Given the description of an element on the screen output the (x, y) to click on. 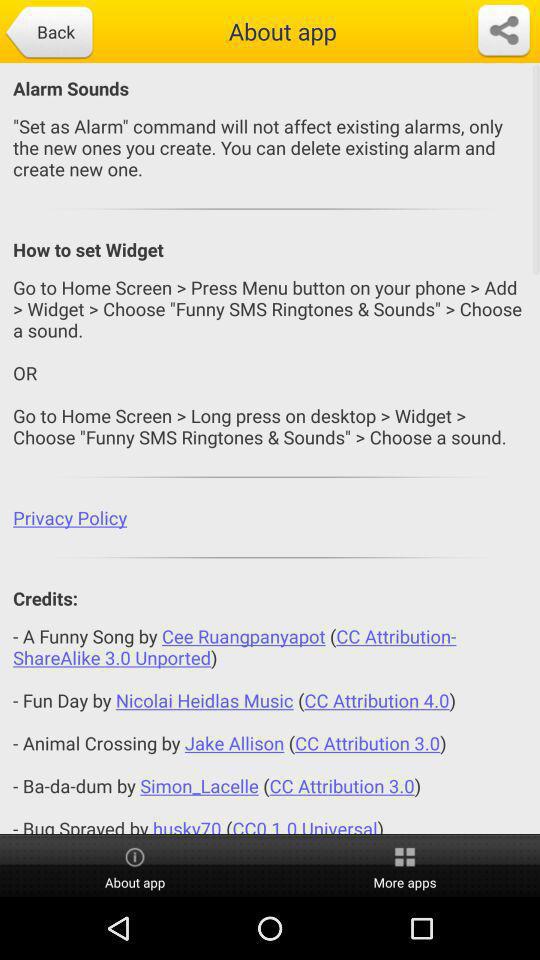
share about page (503, 31)
